Given the description of an element on the screen output the (x, y) to click on. 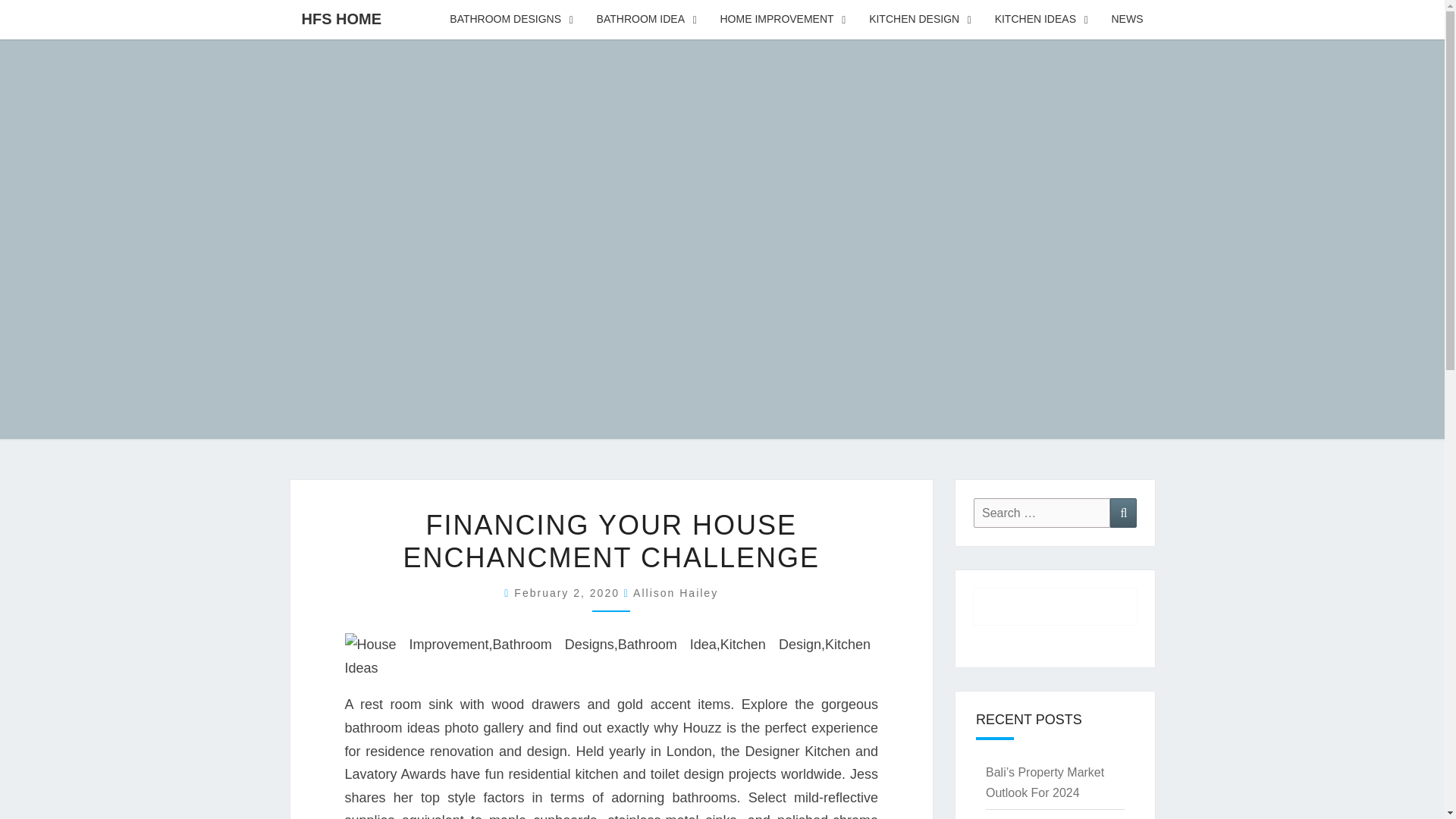
February 2, 2020 (568, 592)
HFS HOME (341, 18)
Search (1123, 512)
NEWS (1126, 19)
8:43 am (568, 592)
View all posts by Allison Hailey (675, 592)
Allison Hailey (675, 592)
KITCHEN IDEAS (1042, 19)
HOME IMPROVEMENT (782, 19)
Search for: (1041, 512)
BATHROOM IDEA (647, 19)
KITCHEN DESIGN (920, 19)
BATHROOM DESIGNS (511, 19)
